Given the description of an element on the screen output the (x, y) to click on. 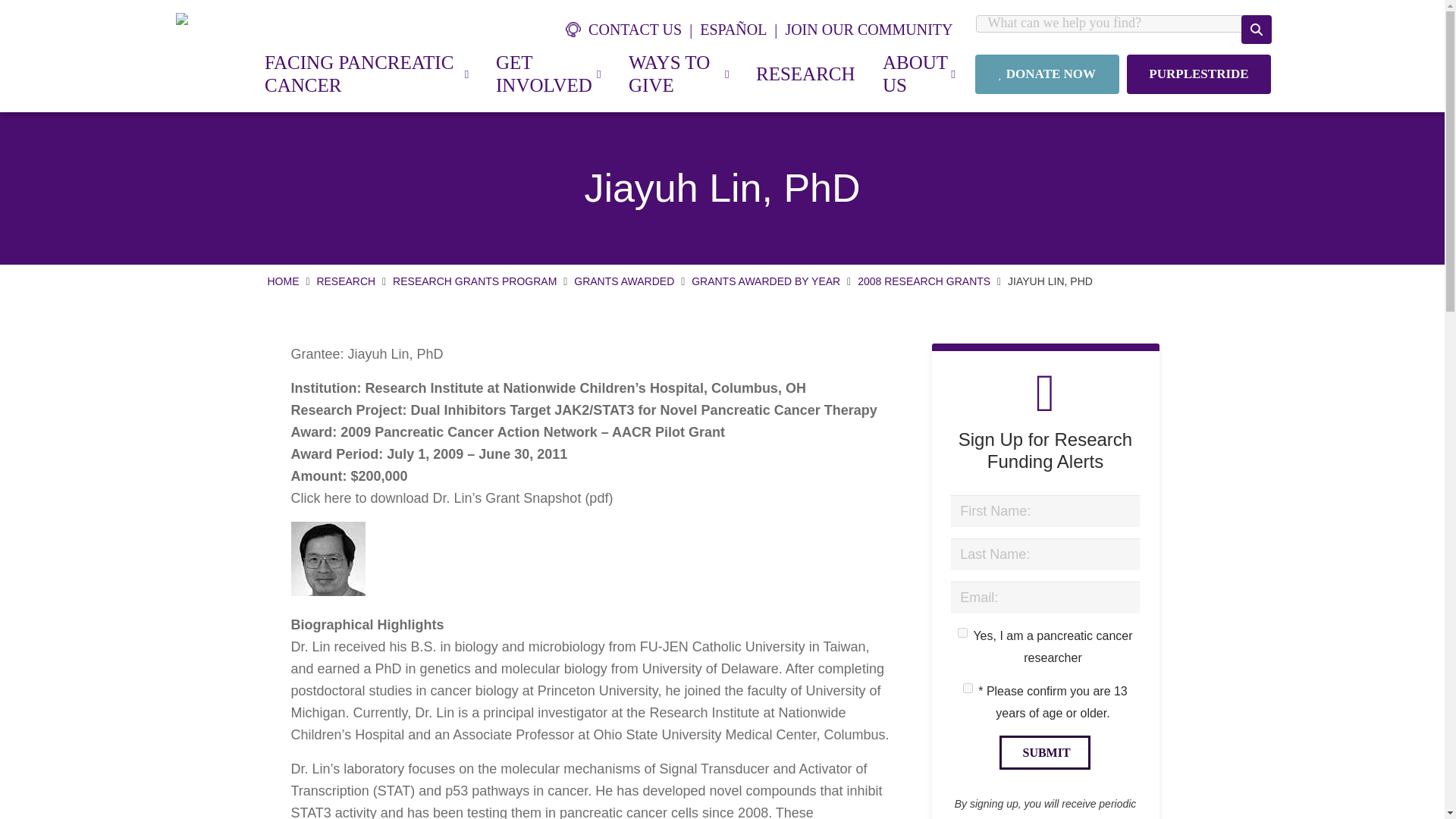
Yes (967, 687)
GET INVOLVED  (547, 74)
Pancan.org (195, 19)
Yes, I am a pancreatic cancer researcher (963, 633)
JOIN OUR COMMUNITY (868, 29)
FACING PANCREATIC CANCER  (366, 74)
  CONTACT US (633, 29)
